Given the description of an element on the screen output the (x, y) to click on. 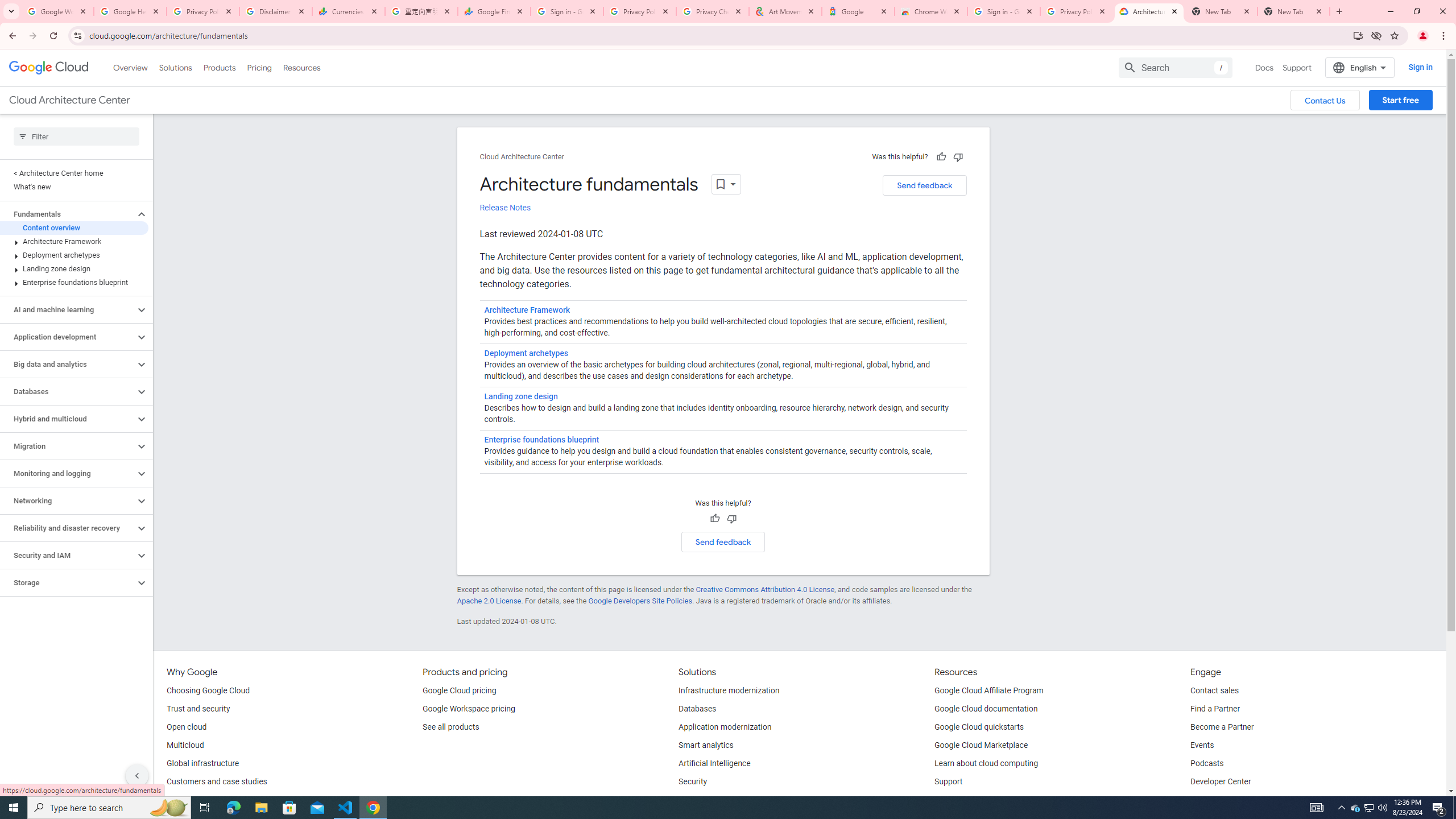
Choosing Google Cloud (207, 691)
See all products (450, 727)
Hybrid and multicloud (67, 418)
Networking (67, 500)
Google Cloud (48, 67)
Send feedback (723, 541)
Open cloud (185, 727)
Productivity & work transformation (739, 800)
Global infrastructure (201, 764)
